Given the description of an element on the screen output the (x, y) to click on. 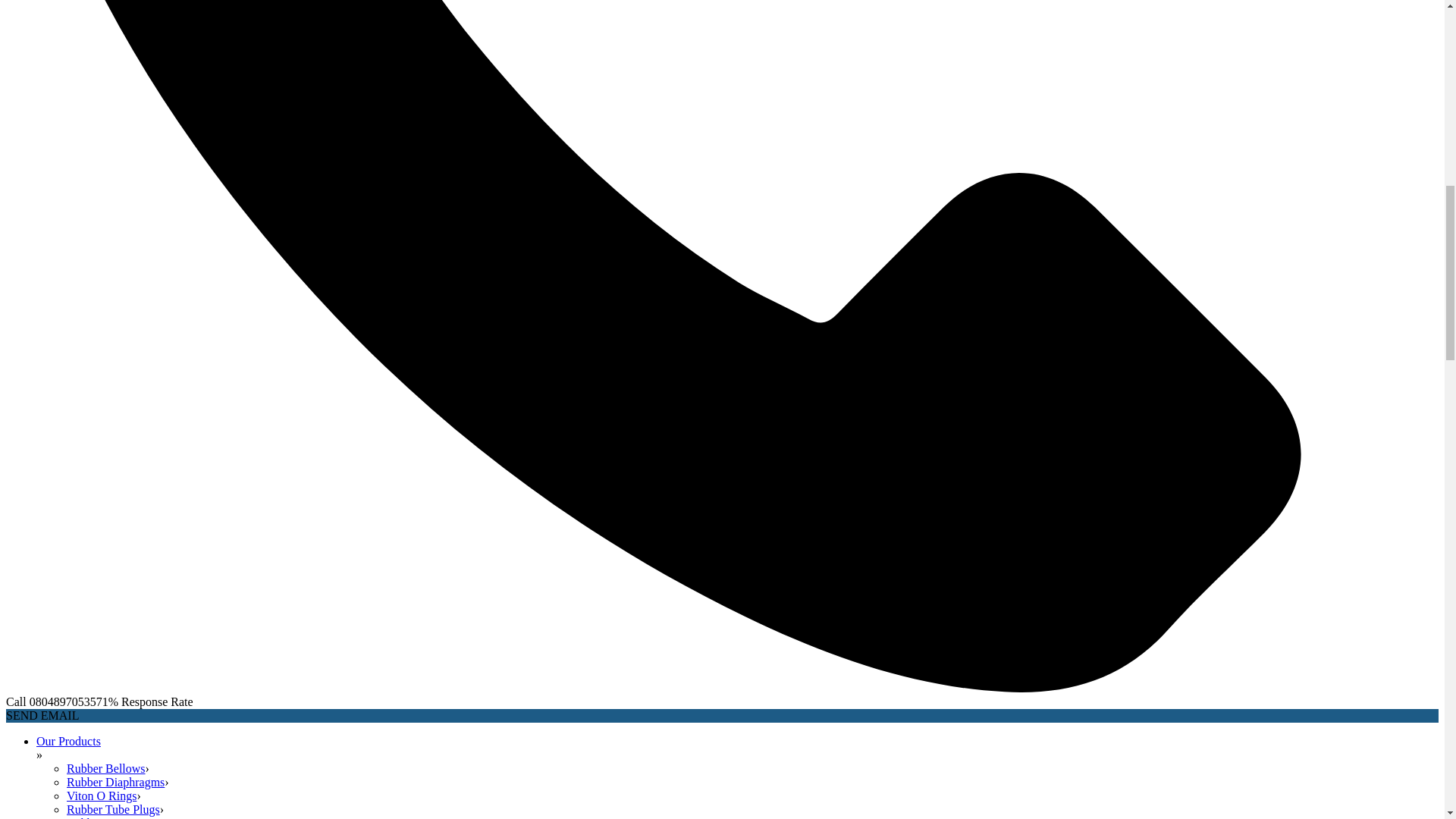
Viton O Rings (101, 795)
Rubber Diaphragms (115, 781)
Rubber Mounts (104, 817)
Rubber Tube Plugs (113, 809)
Rubber Bellows (105, 768)
Our Products (68, 740)
